Given the description of an element on the screen output the (x, y) to click on. 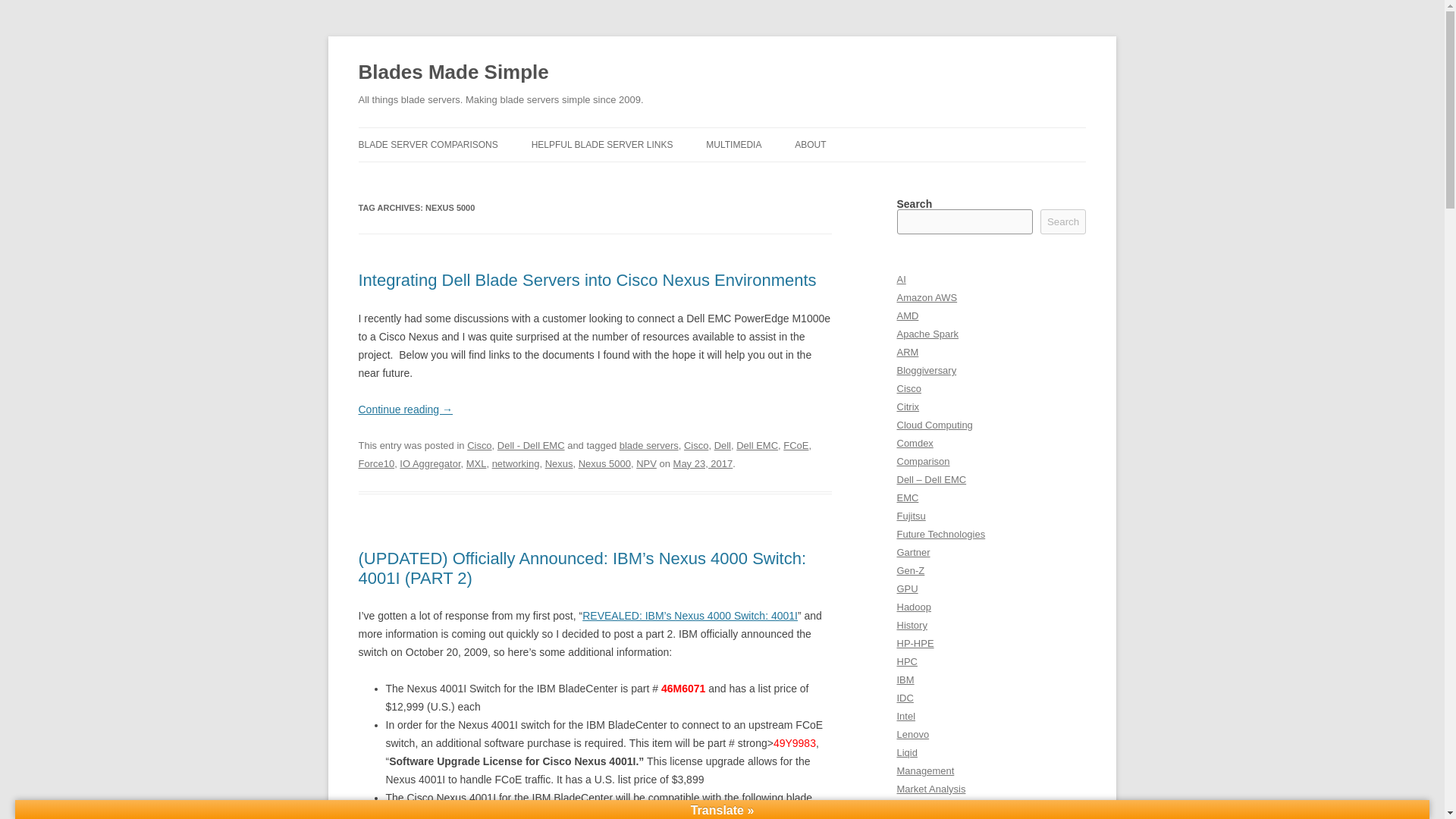
IO Aggregator (429, 463)
networking (516, 463)
Dell (722, 445)
BLADE SERVER COMPARISONS (427, 144)
Integrating Dell Blade Servers into Cisco Nexus Environments (586, 280)
HELPFUL BLADE SERVER LINKS (601, 144)
Nexus (558, 463)
MXL (475, 463)
Dell EMC (756, 445)
Blades Made Simple (453, 72)
blade servers (649, 445)
NPV (646, 463)
Nexus 5000 (604, 463)
FCoE (795, 445)
Cisco (479, 445)
